Given the description of an element on the screen output the (x, y) to click on. 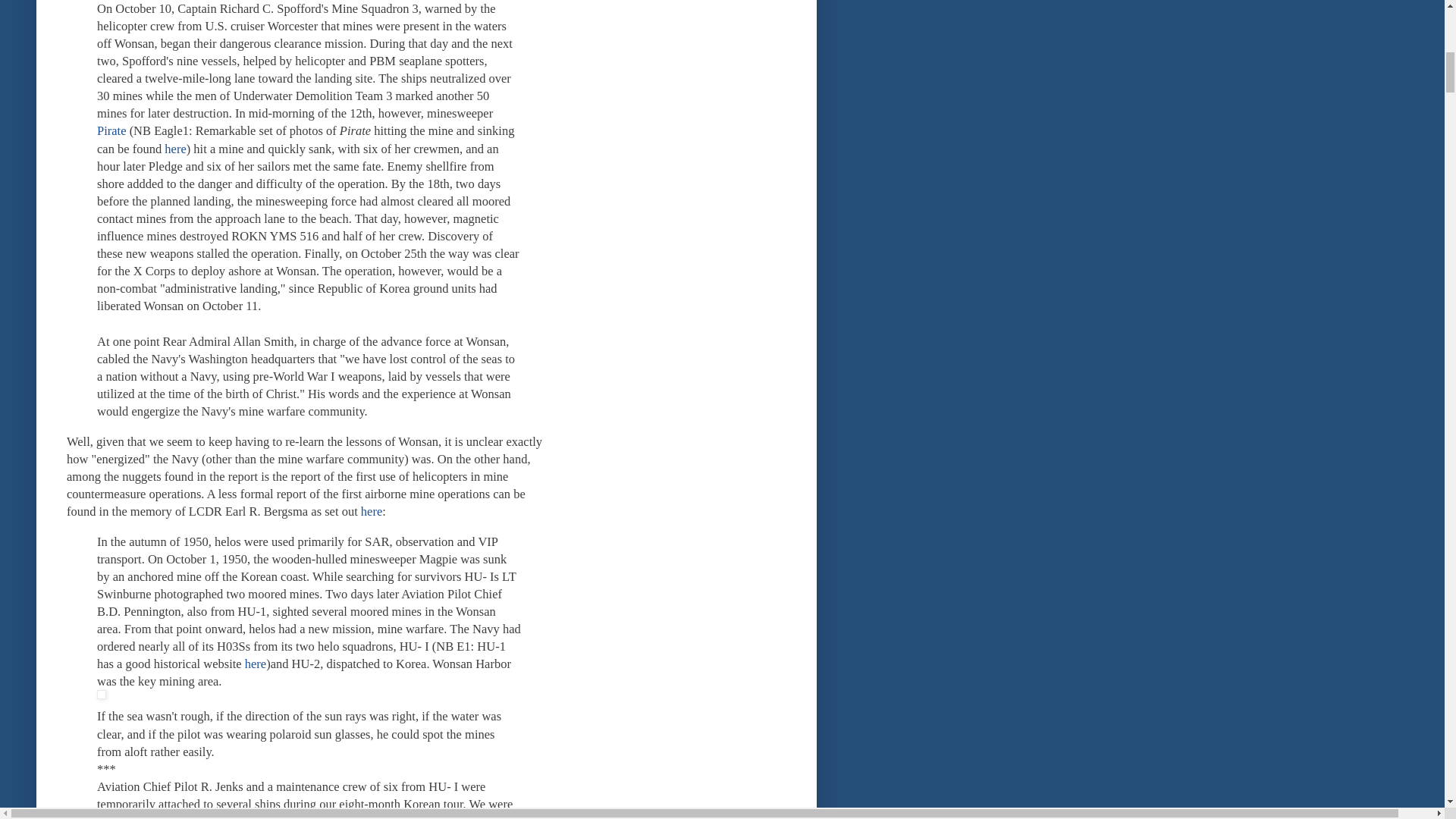
here (175, 148)
here (255, 663)
Pirate (111, 130)
here (371, 511)
